Given the description of an element on the screen output the (x, y) to click on. 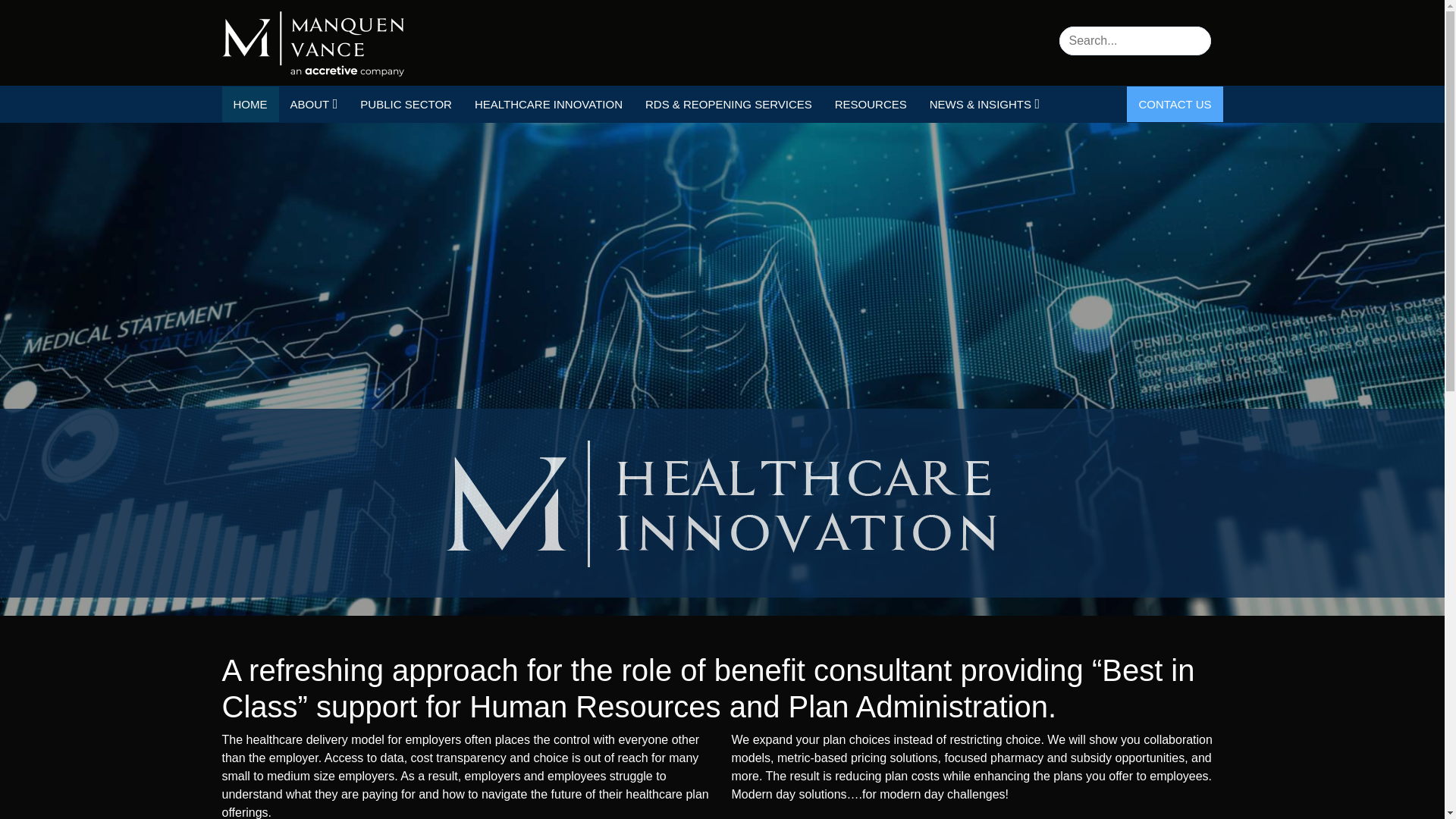
CONTACT US (1174, 104)
ABOUT (314, 104)
RESOURCES (871, 104)
HOME (249, 104)
HEALTHCARE INNOVATION (548, 104)
PUBLIC SECTOR (406, 104)
